Given the description of an element on the screen output the (x, y) to click on. 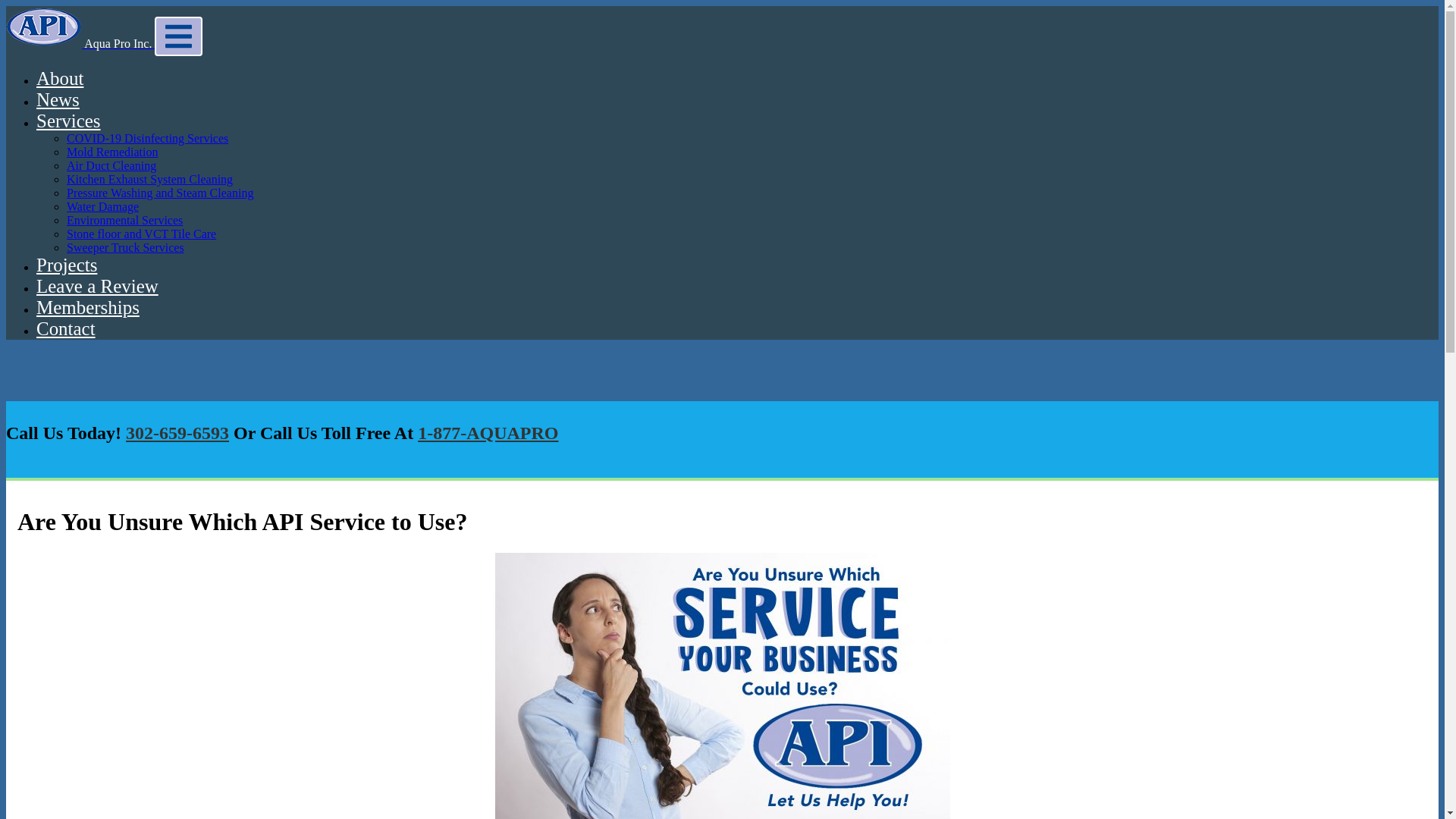
COVID-19 Disinfecting Services (147, 137)
News (58, 99)
COVID-19 Disinfecting Services (147, 137)
Kitchen Exhaust System Cleaning (149, 178)
Water Damage (102, 205)
Services (68, 120)
Sweeper Truck Services (125, 246)
Water Damage (102, 205)
Stone floor and VCT Tile Care (140, 233)
Leave a Review (97, 286)
Leave a Review (97, 286)
302-659-6593 (176, 433)
Contact (66, 328)
About (59, 77)
Sweeper Truck Services (125, 246)
